Given the description of an element on the screen output the (x, y) to click on. 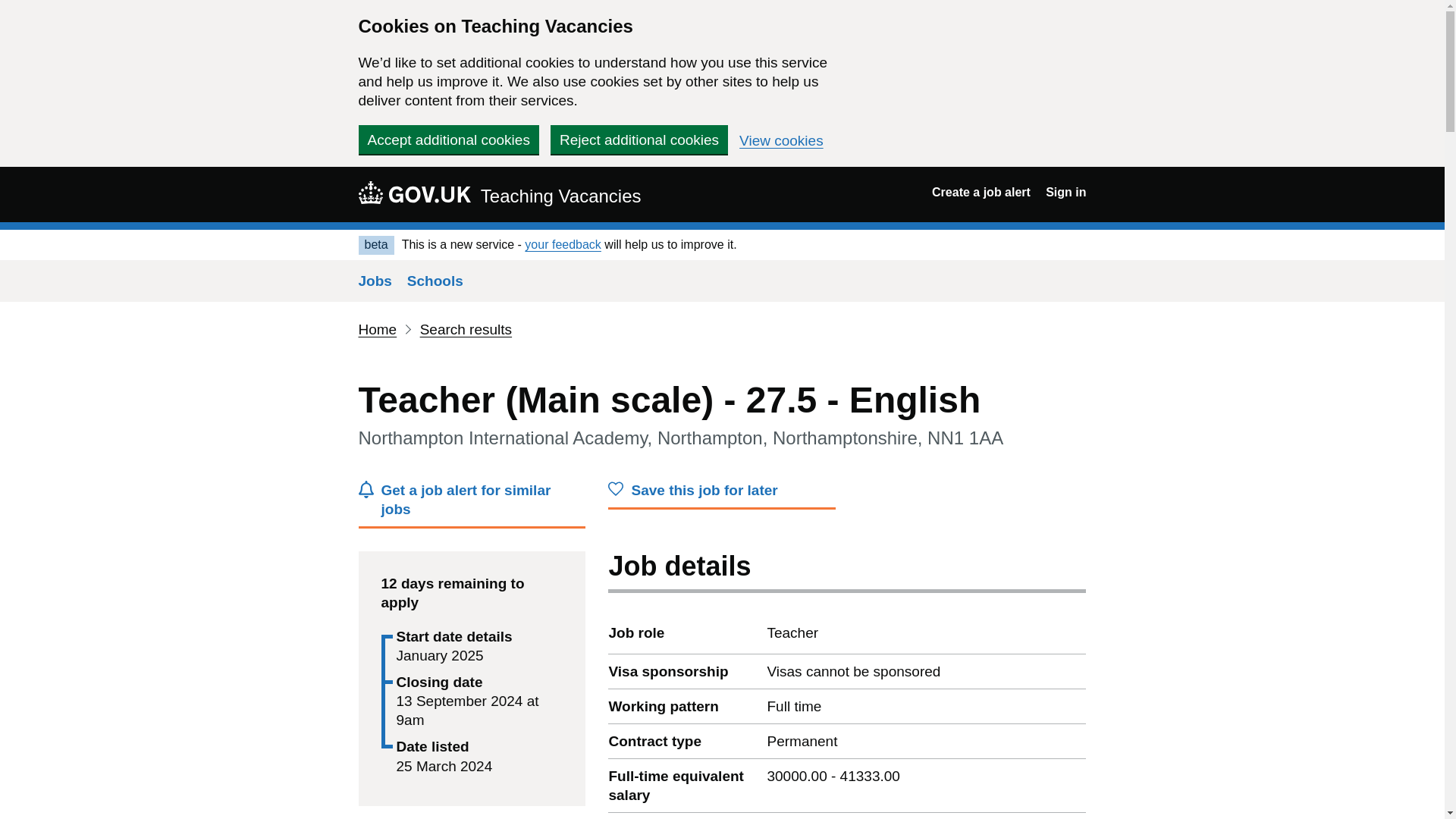
Reject additional cookies (639, 139)
your feedback (562, 244)
View cookies (781, 140)
Save this job for later (721, 494)
Search results (466, 329)
Get a job alert for similar jobs (471, 503)
GOV.UK Teaching Vacancies (499, 194)
Schools (435, 281)
GOV.UK (414, 191)
Create a job alert (980, 192)
